Given the description of an element on the screen output the (x, y) to click on. 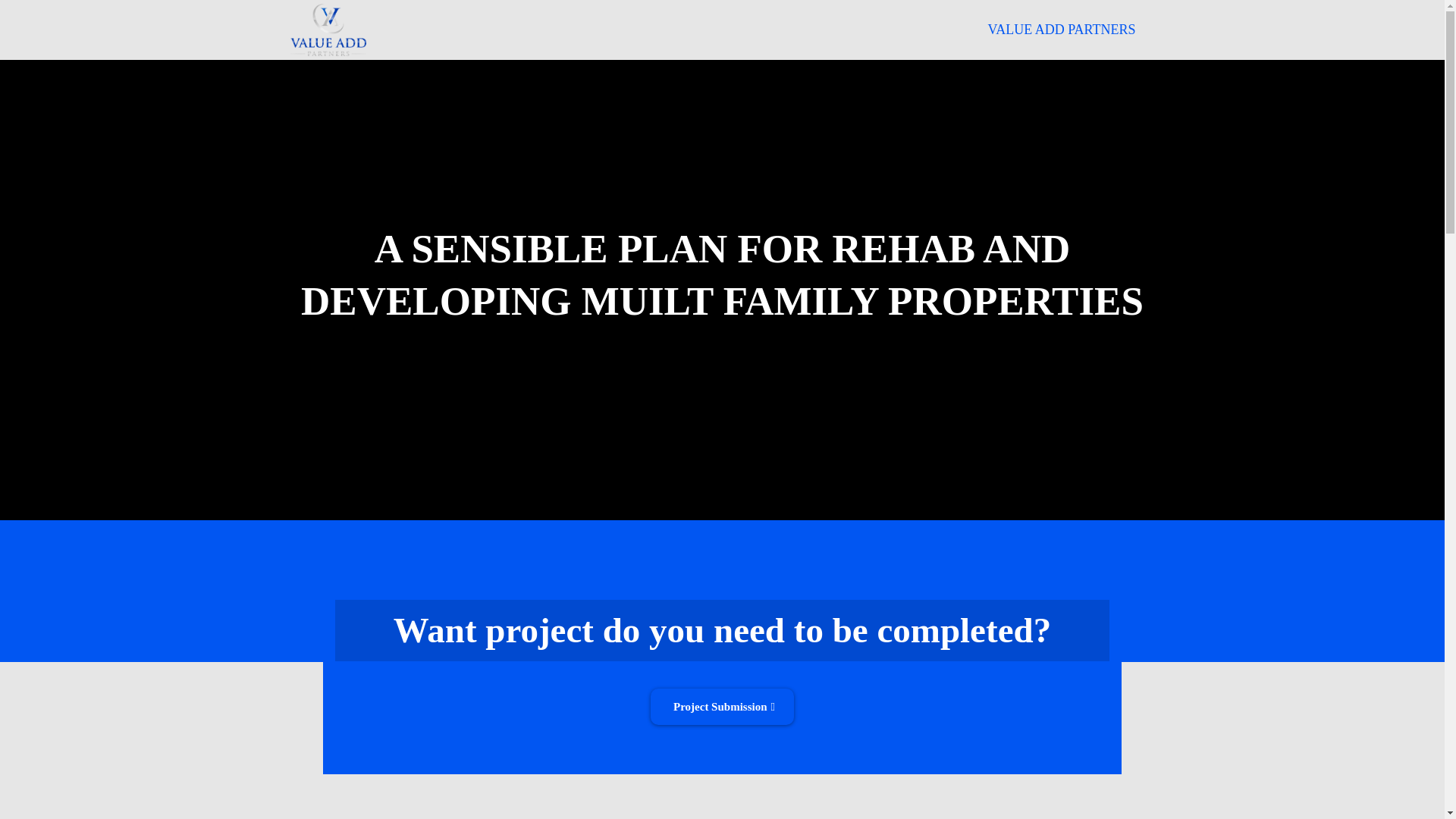
Project Submission (721, 706)
VALUE ADD PARTNERS (1061, 29)
